Given the description of an element on the screen output the (x, y) to click on. 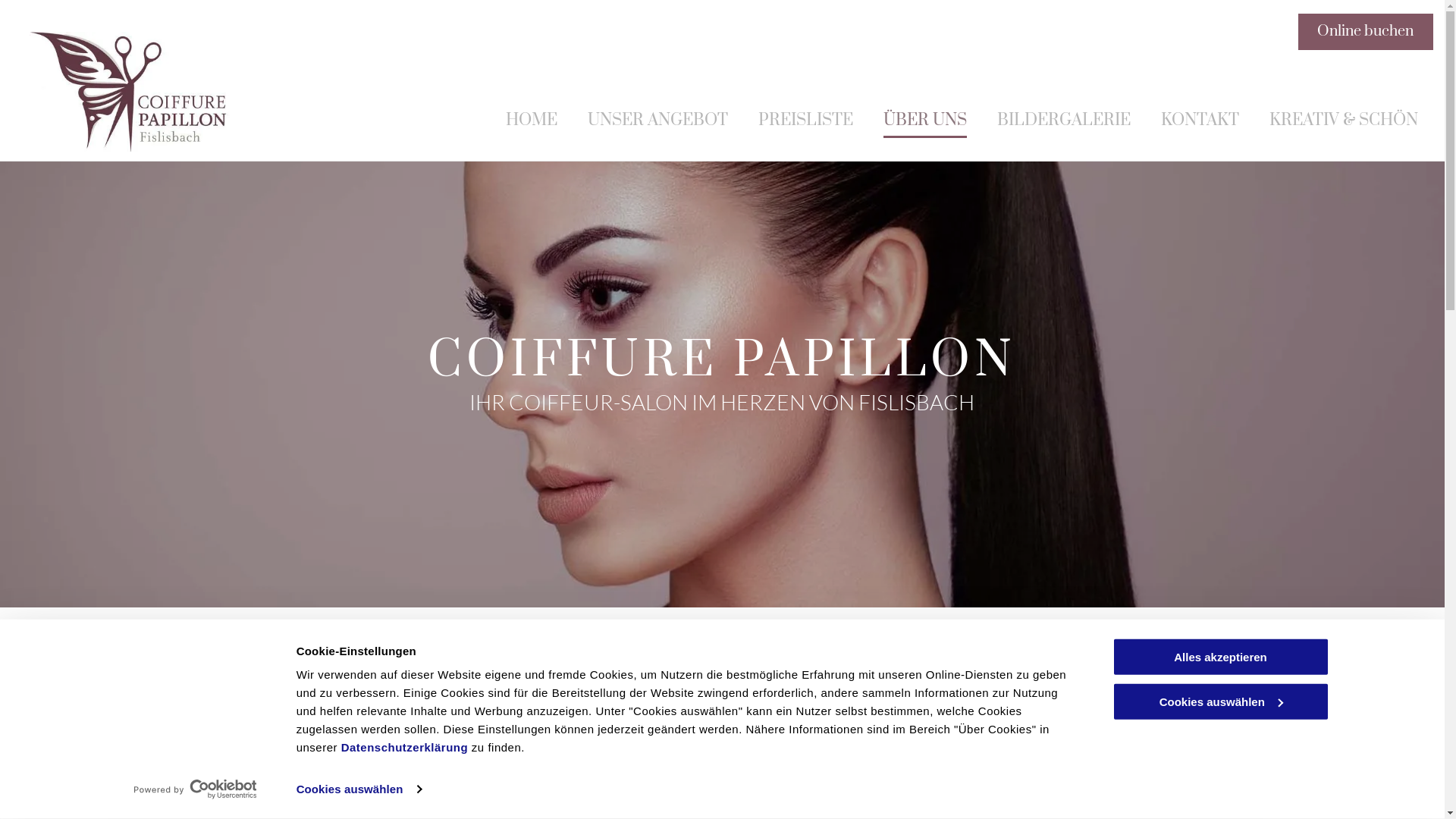
Online buchen Element type: text (1365, 31)
PREISLISTE Element type: text (803, 122)
UNSER ANGEBOT Element type: text (655, 122)
BILDERGALERIE Element type: text (1061, 122)
HOME Element type: text (529, 122)
KONTAKT Element type: text (1198, 122)
Alles akzeptieren Element type: text (1219, 656)
